Given the description of an element on the screen output the (x, y) to click on. 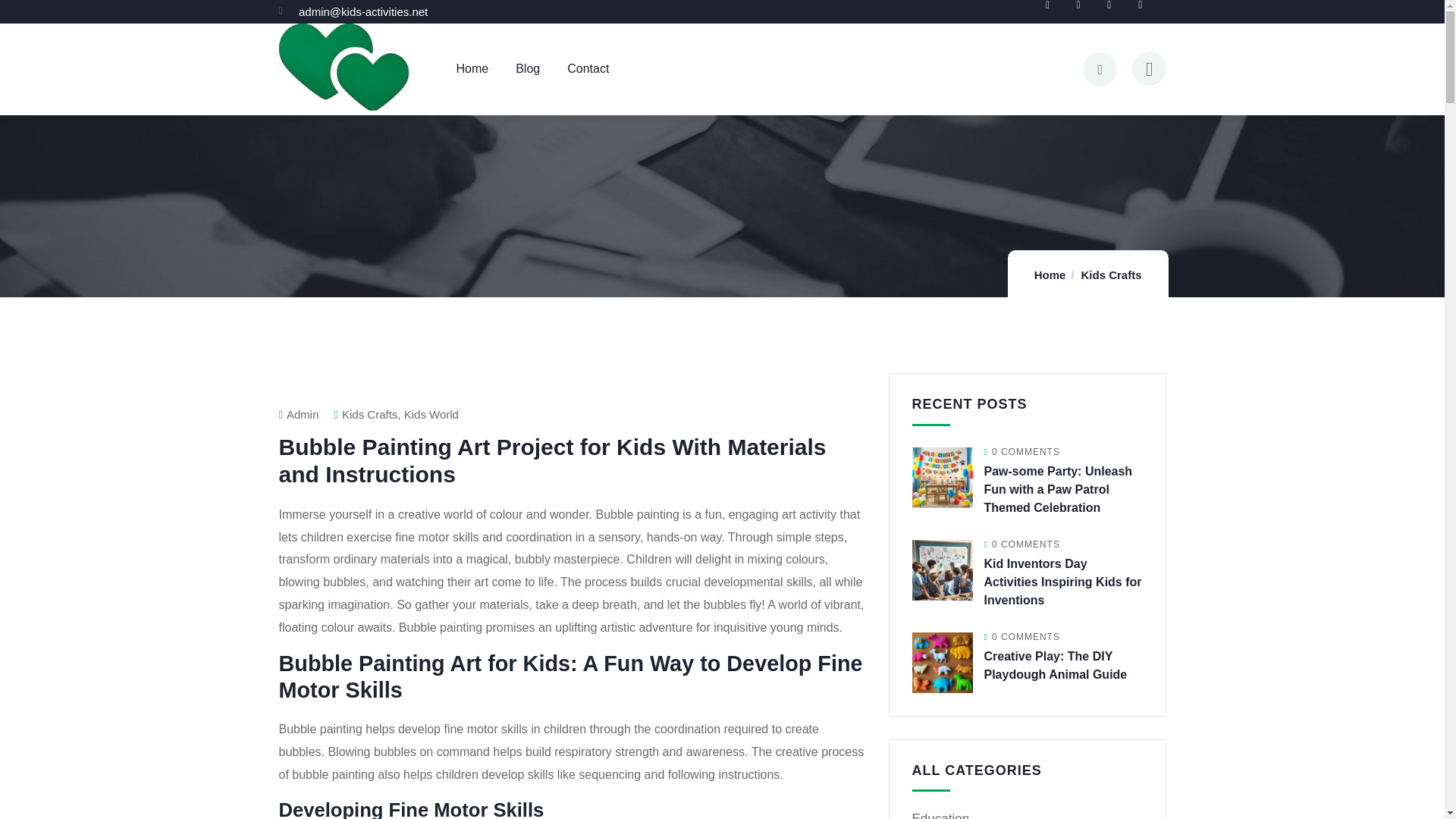
Home (345, 68)
Admin (298, 413)
playdough animals - Kids Activities (941, 662)
Kids World (431, 413)
Kids Crafts (369, 413)
Kids Crafts (1110, 274)
Kid Inventors Day Activities Inspiring Kids for Inventions (1062, 581)
Home (1049, 274)
